Given the description of an element on the screen output the (x, y) to click on. 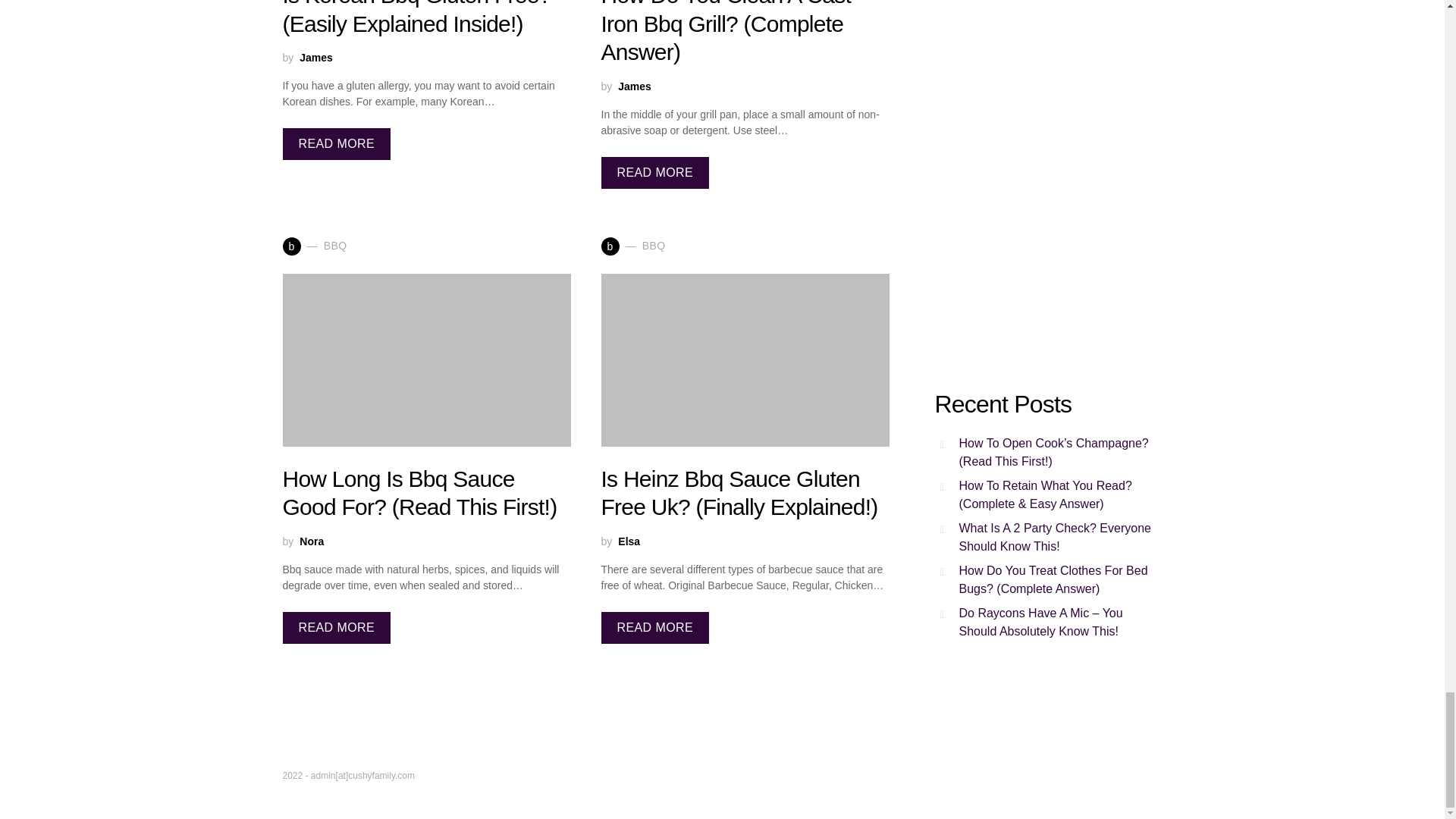
View all posts by Nora (311, 541)
View all posts by Elsa (628, 541)
View all posts by James (633, 86)
View all posts by James (316, 57)
